Given the description of an element on the screen output the (x, y) to click on. 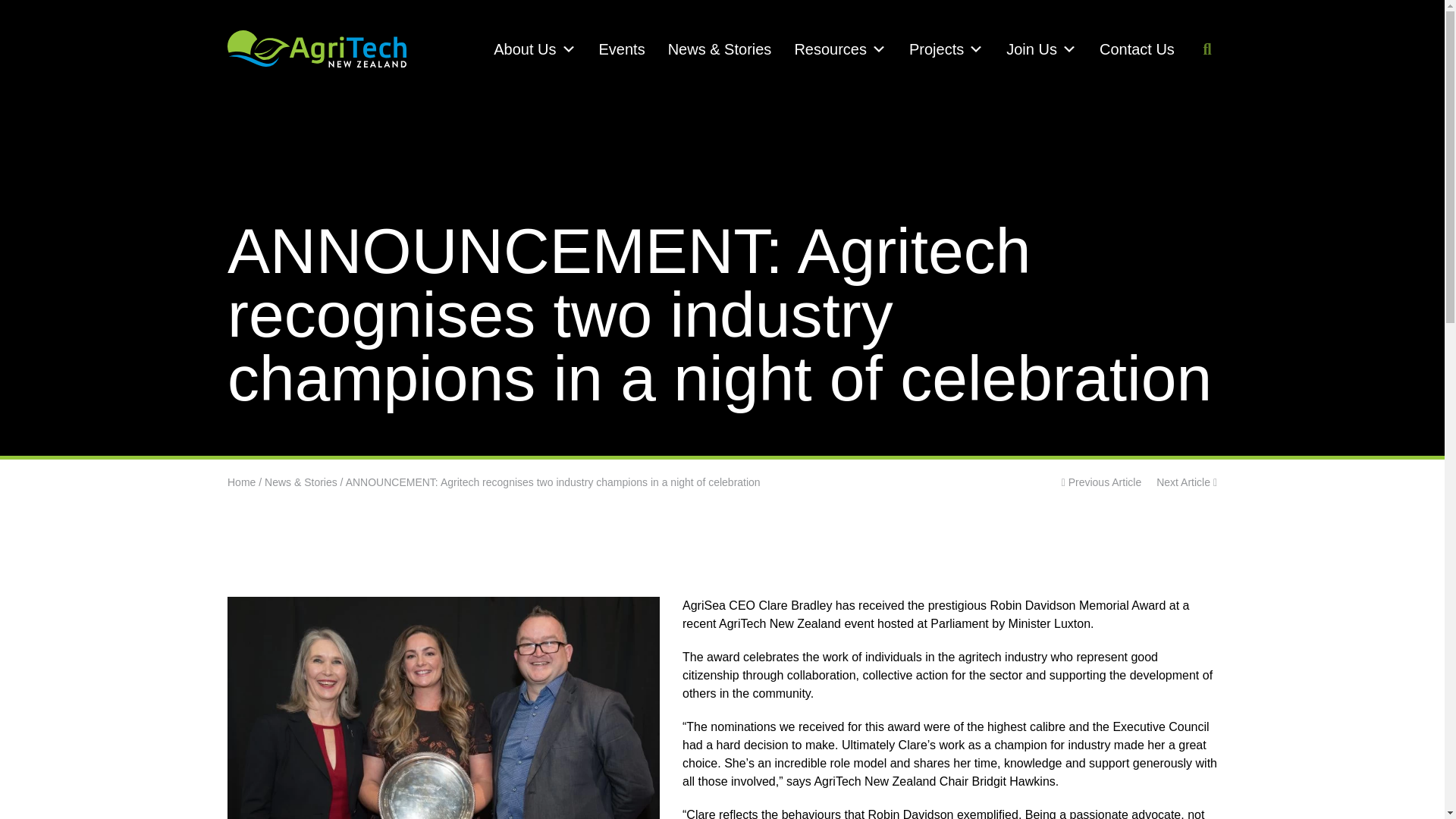
About Us (533, 48)
Contact Us (1136, 48)
Join Us (1040, 48)
Events (621, 48)
Projects (946, 48)
Resources (840, 48)
